Given the description of an element on the screen output the (x, y) to click on. 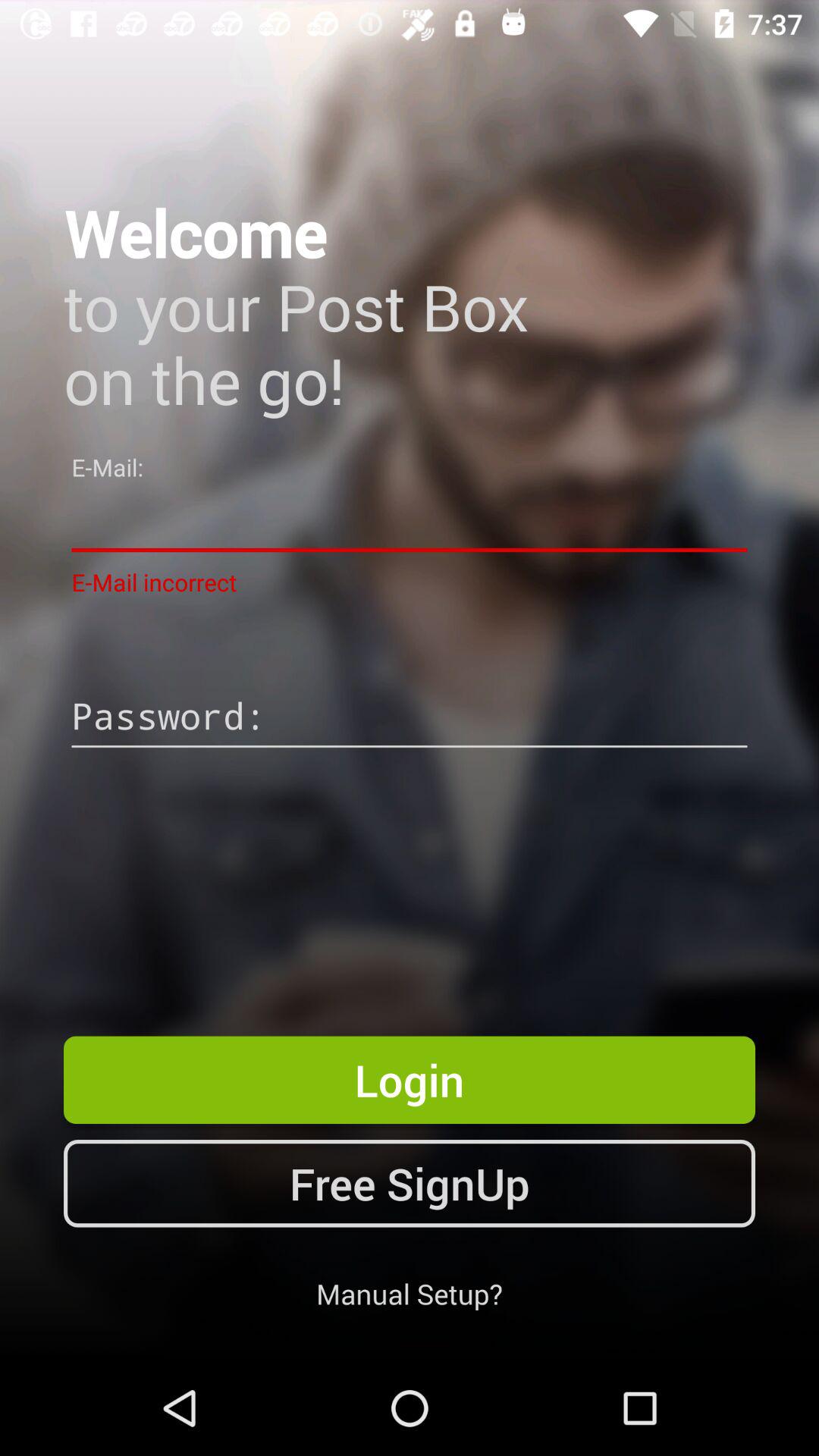
scroll until the free signup icon (409, 1183)
